Given the description of an element on the screen output the (x, y) to click on. 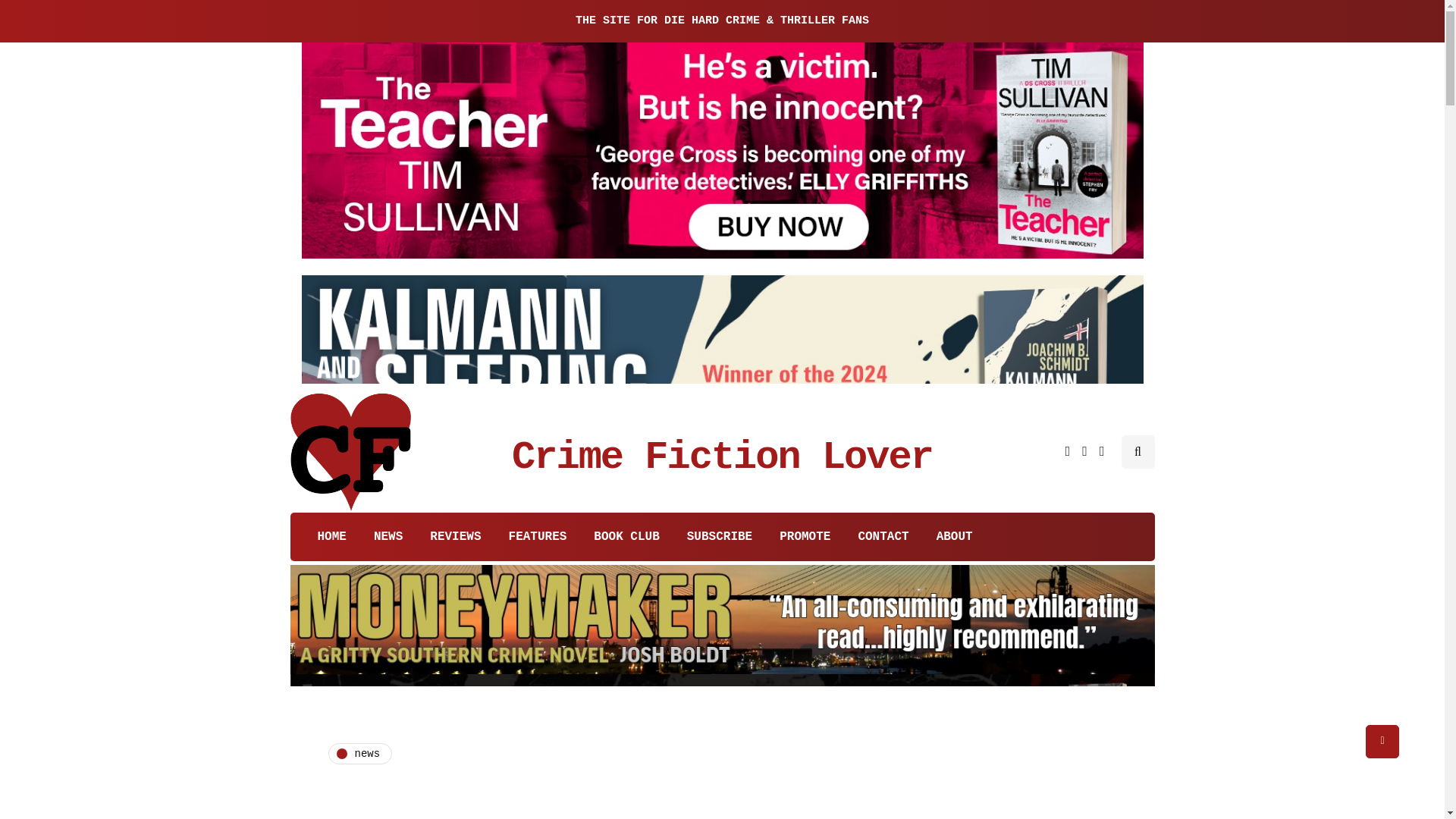
news (359, 753)
REVIEWS (455, 536)
PROMOTE (804, 536)
HOME (324, 536)
BOOK CLUB (625, 536)
CONTACT (882, 536)
SUBSCRIBE (718, 536)
ABOUT (955, 536)
FEATURES (537, 536)
NEWS (387, 536)
